Given the description of an element on the screen output the (x, y) to click on. 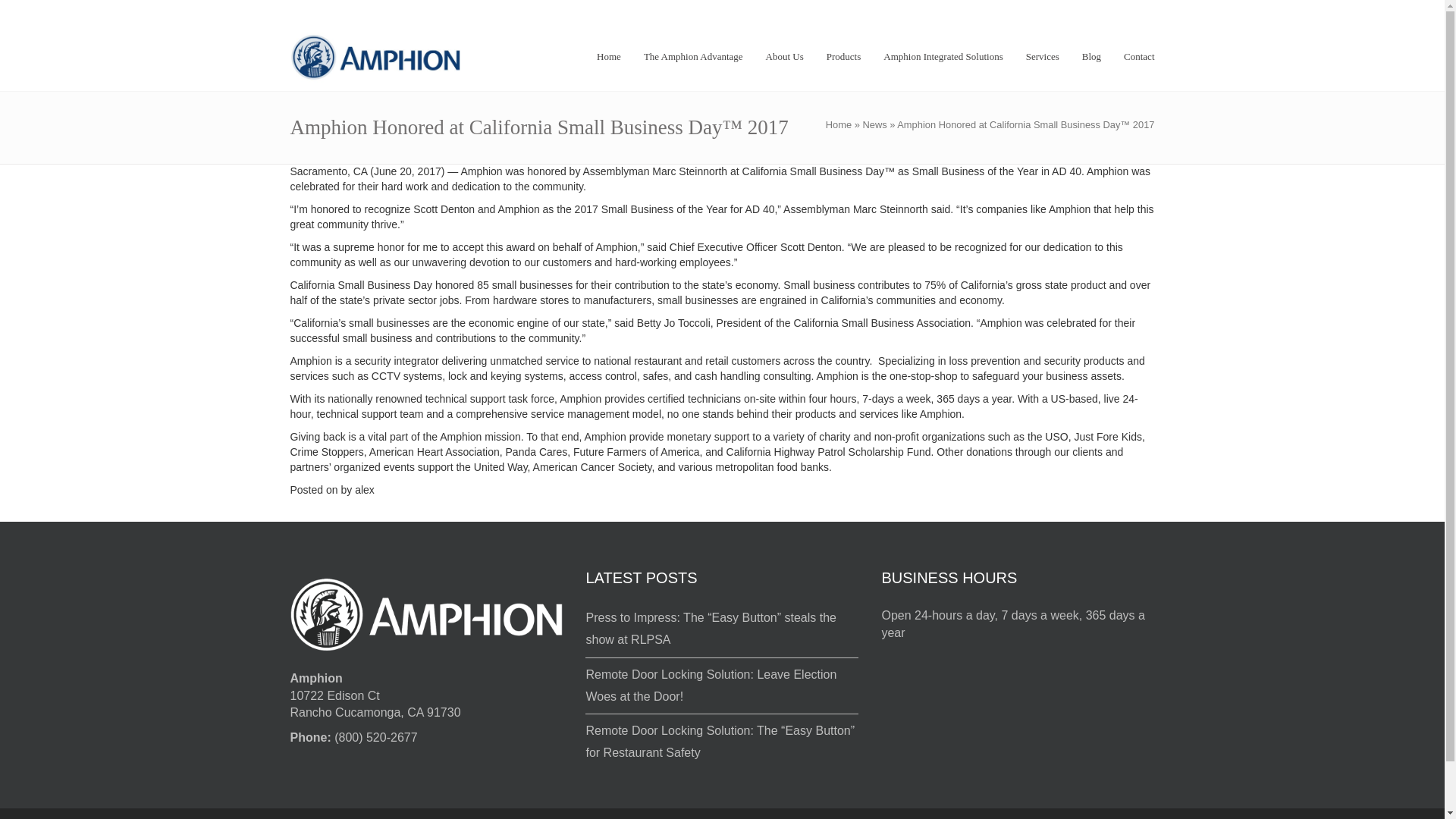
alex (364, 490)
News (873, 124)
Amphion Integrated Solutions (943, 45)
Home (838, 124)
The Amphion Advantage (692, 45)
